Given the description of an element on the screen output the (x, y) to click on. 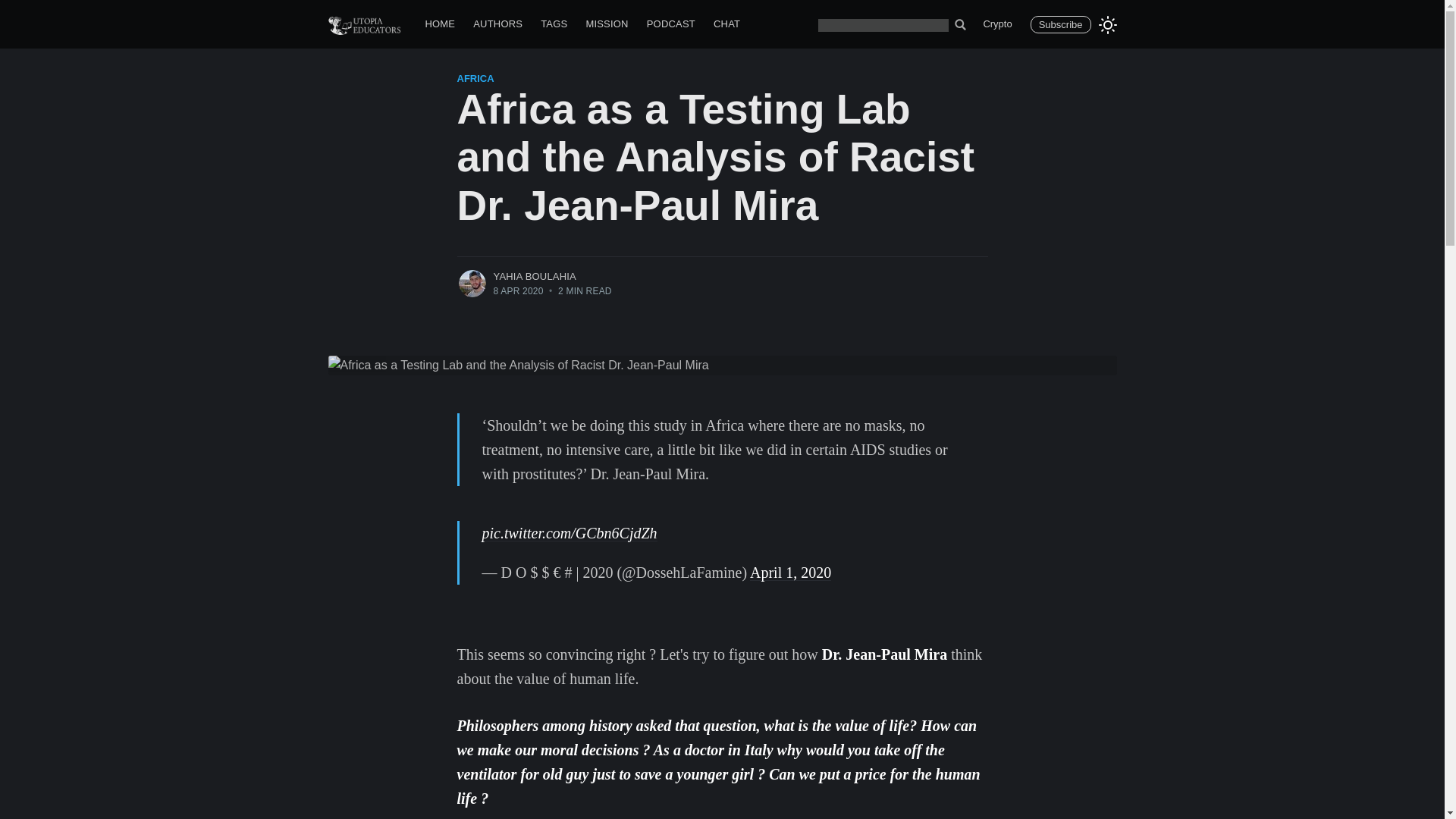
MISSION (606, 24)
HOME (439, 24)
Crypto (997, 24)
CHAT (726, 24)
TAGS (553, 24)
April 1, 2020 (790, 572)
AUTHORS (497, 24)
AFRICA (475, 78)
YAHIA BOULAHIA (534, 276)
PODCAST (670, 24)
